Given the description of an element on the screen output the (x, y) to click on. 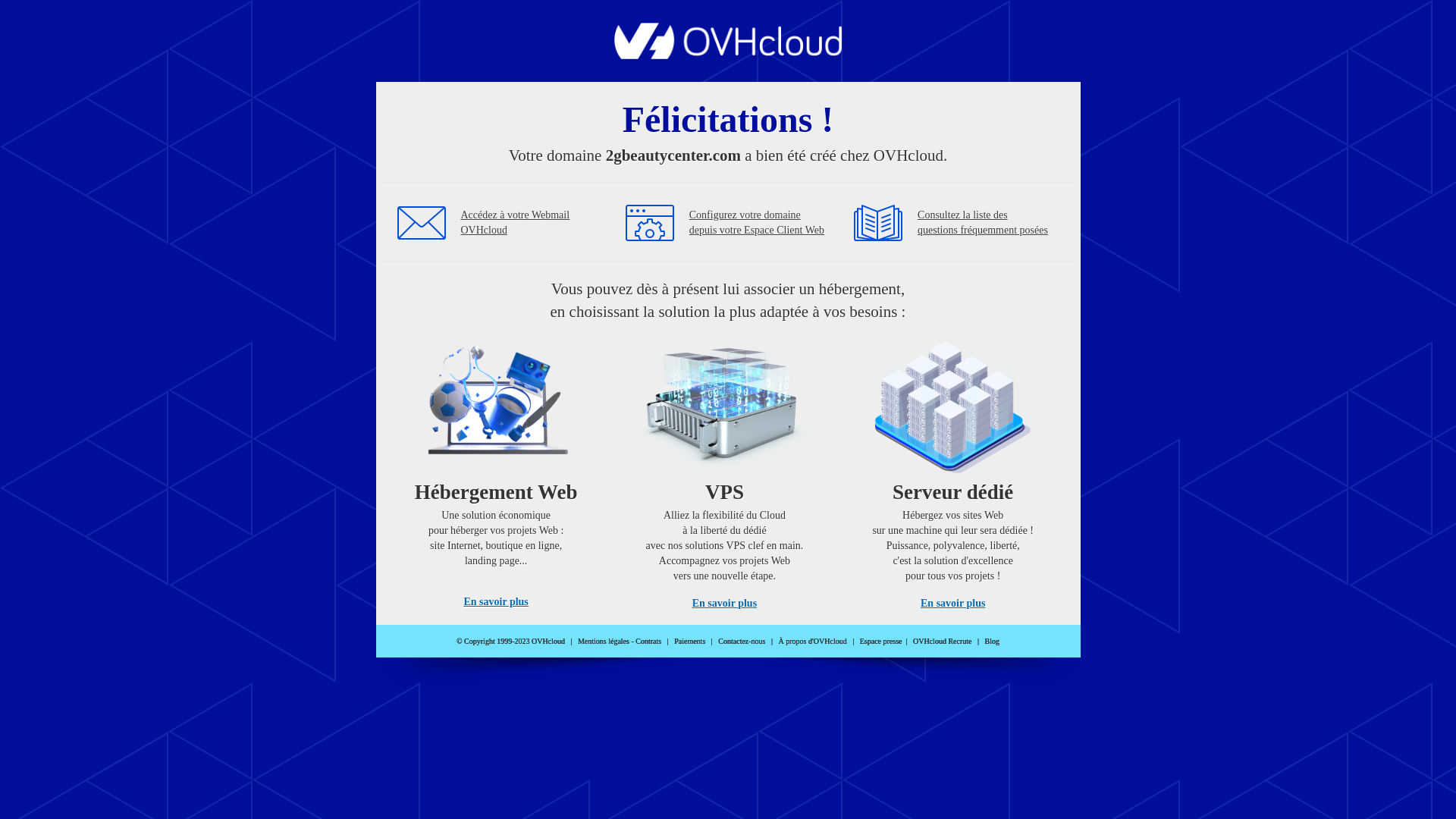
OVHcloud Element type: hover (727, 54)
Paiements Element type: text (689, 641)
OVHcloud Recrute Element type: text (942, 641)
Espace presse Element type: text (880, 641)
Blog Element type: text (992, 641)
Contactez-nous Element type: text (741, 641)
En savoir plus Element type: text (952, 602)
Configurez votre domaine
depuis votre Espace Client Web Element type: text (756, 222)
VPS Element type: hover (724, 469)
En savoir plus Element type: text (724, 602)
En savoir plus Element type: text (495, 601)
